Given the description of an element on the screen output the (x, y) to click on. 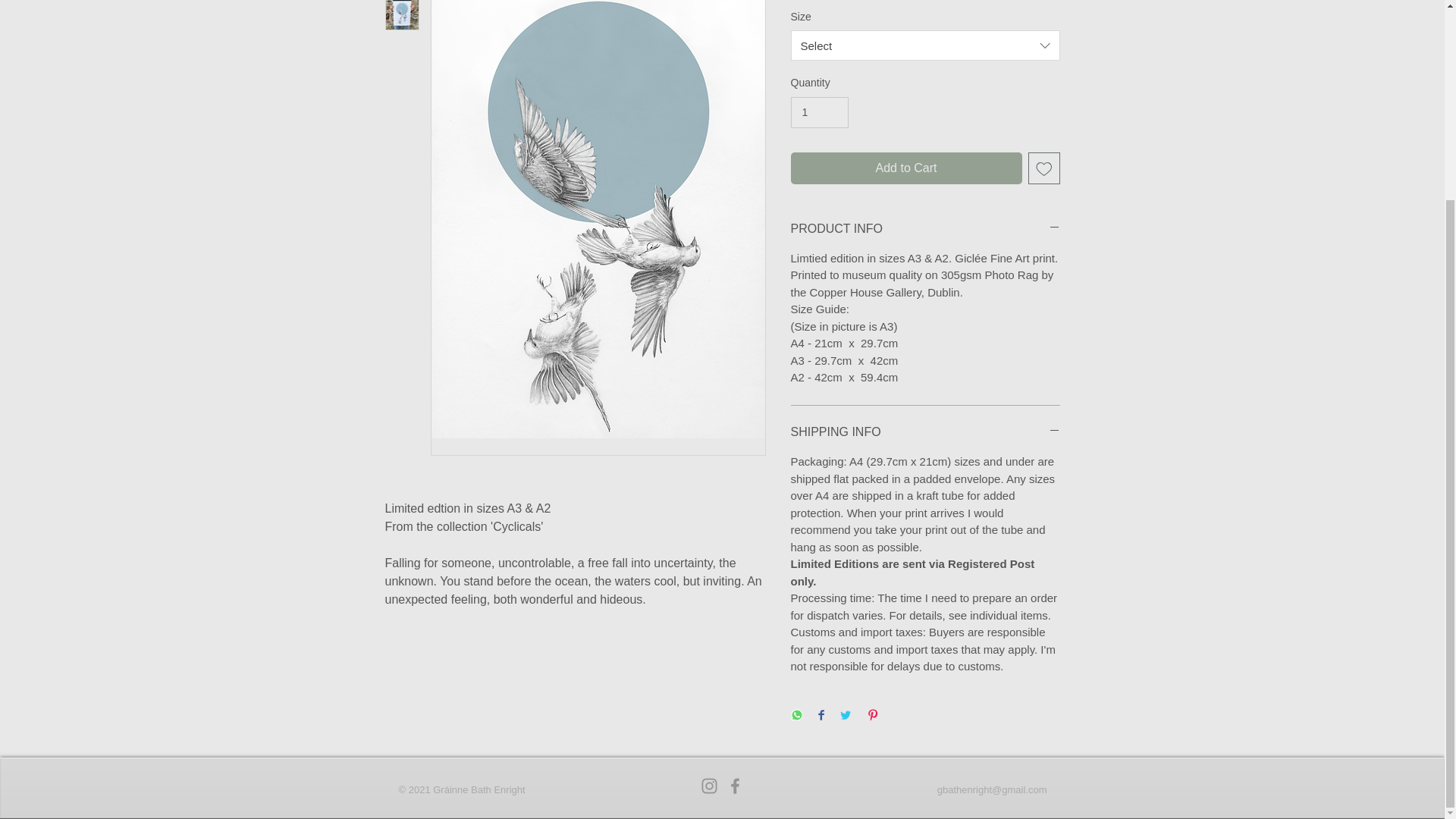
PRODUCT INFO (924, 228)
1 (818, 112)
SHIPPING INFO (924, 432)
Add to Cart (906, 168)
Select (924, 45)
